Given the description of an element on the screen output the (x, y) to click on. 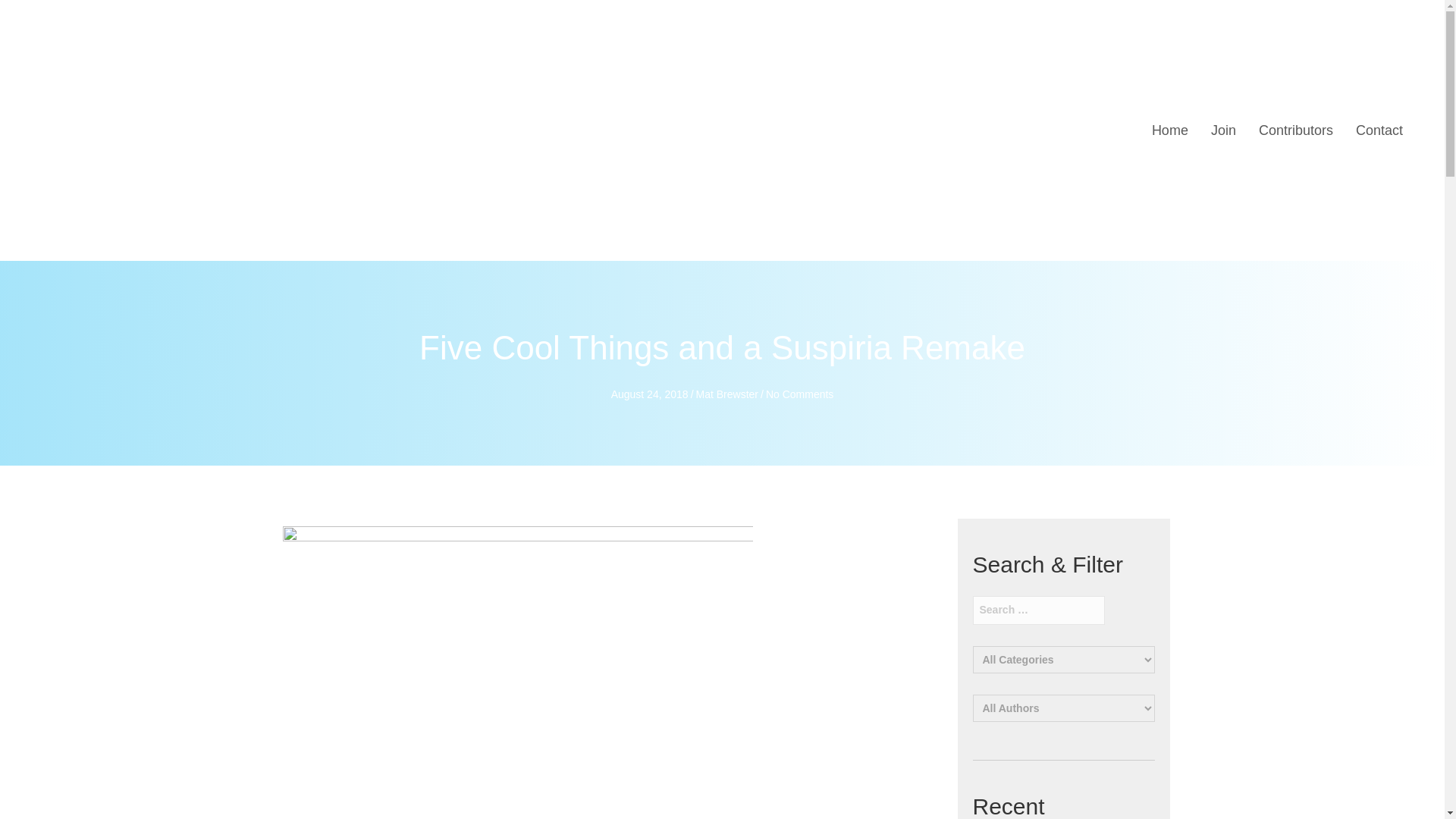
Contributors (1295, 130)
No Comments (798, 394)
Home (1169, 130)
Join (1223, 130)
Cinema Sentries (148, 130)
Mat Brewster (726, 394)
Contact (1379, 130)
